Given the description of an element on the screen output the (x, y) to click on. 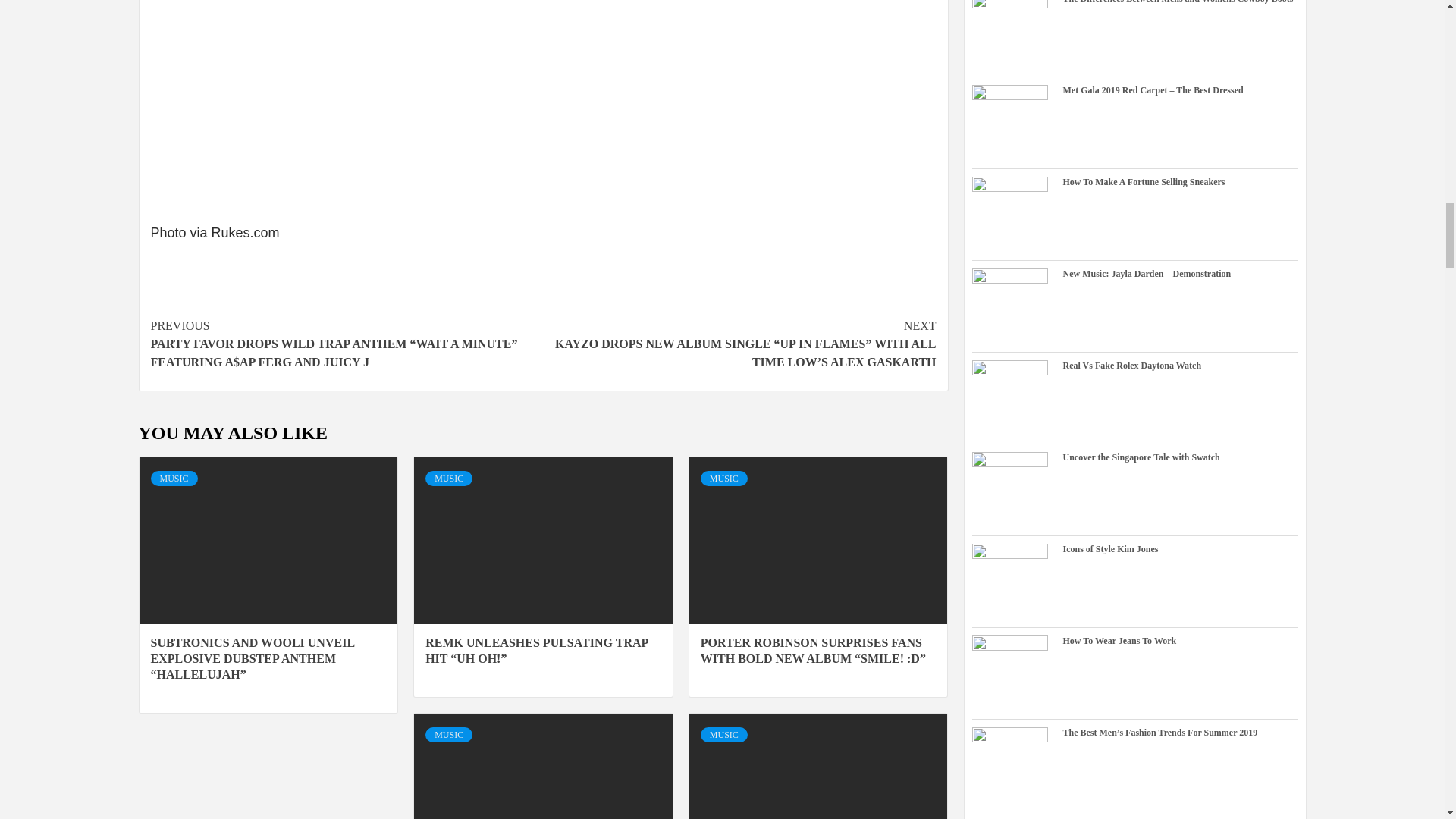
MUSIC (172, 478)
MUSIC (448, 478)
